Given the description of an element on the screen output the (x, y) to click on. 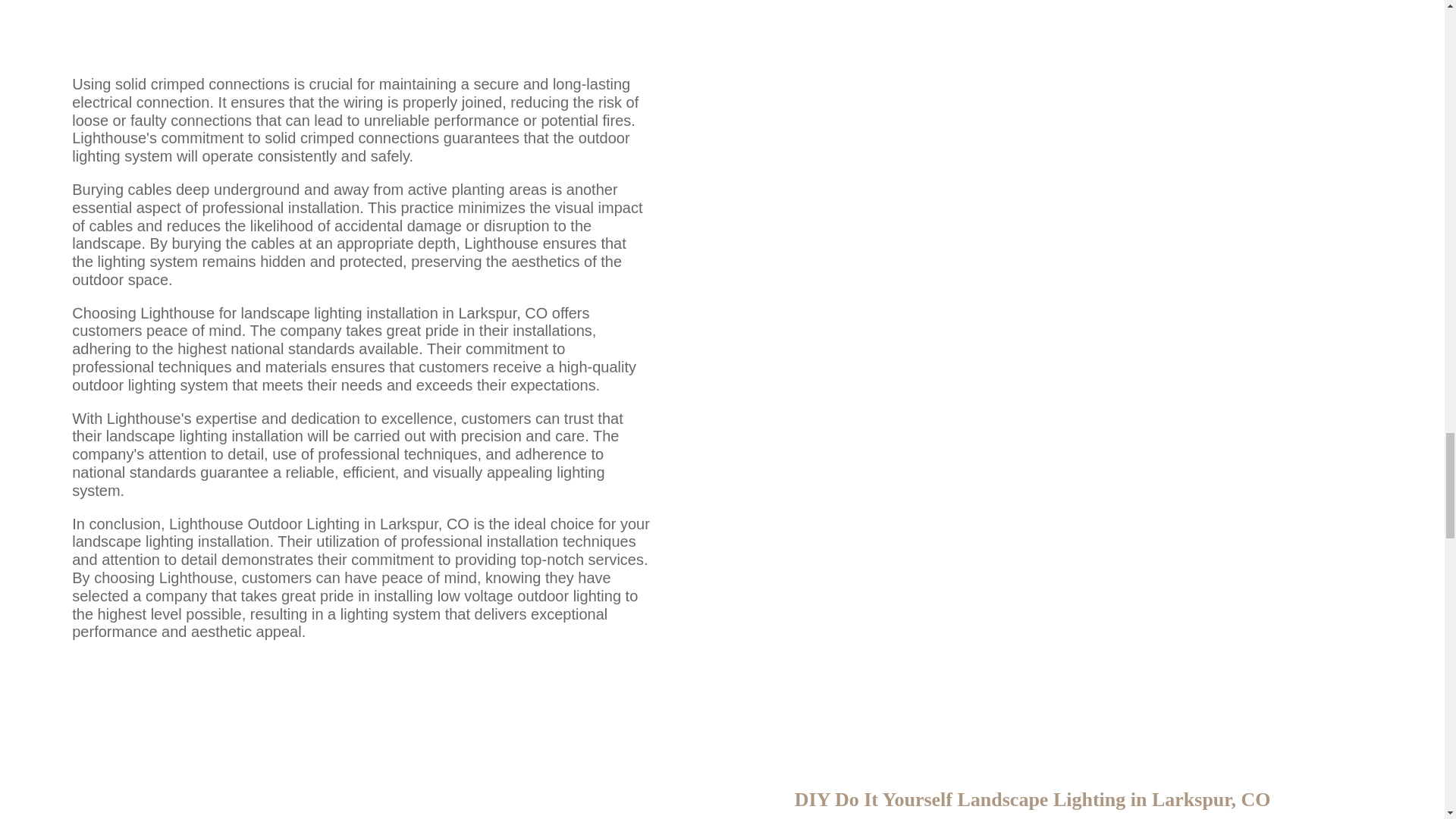
DIY Do It Yourself Landscape Lighting in Larkspur, CO (361, 766)
